Given the description of an element on the screen output the (x, y) to click on. 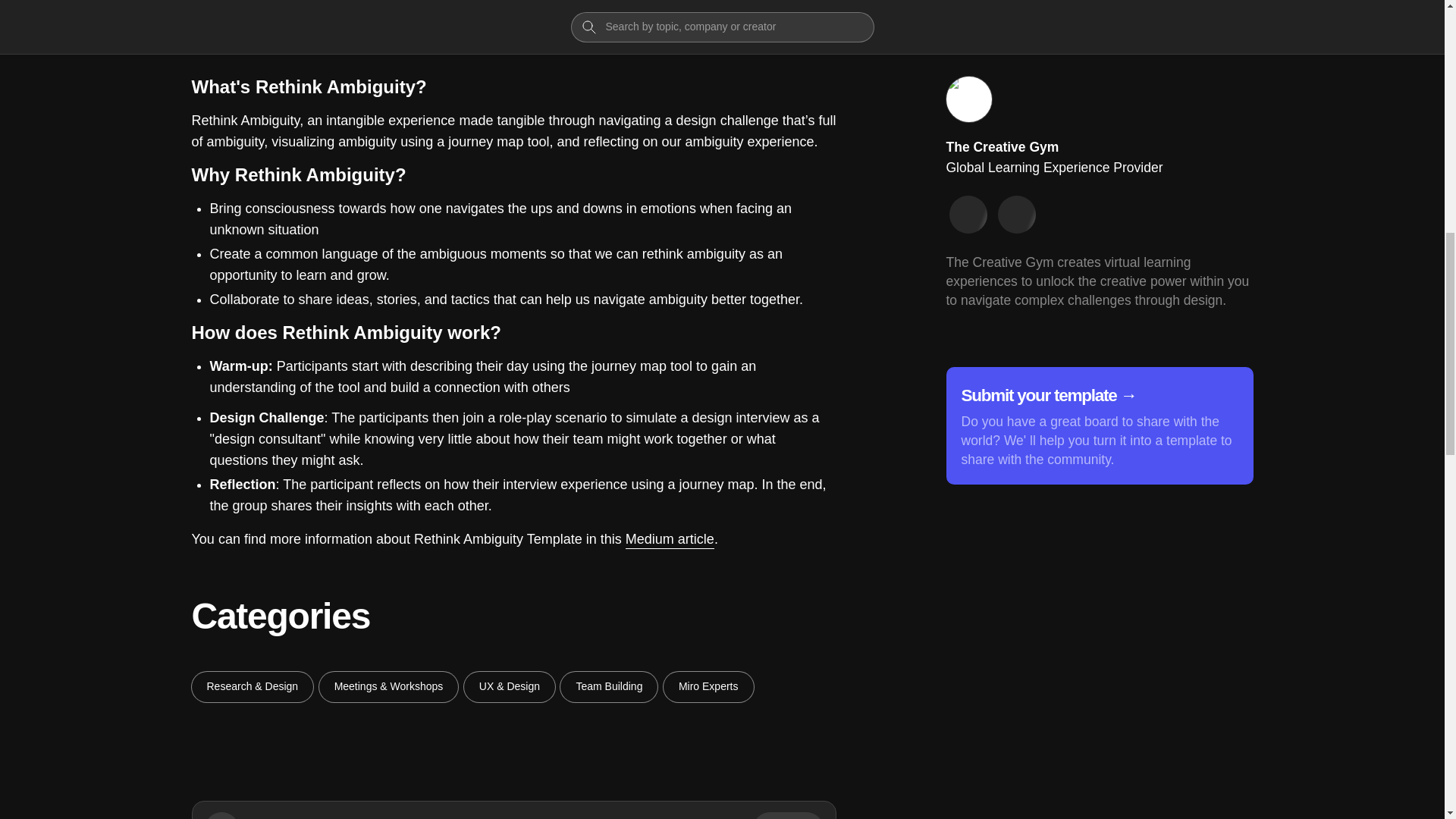
Miro Experts (708, 686)
The Creative Gym (1002, 146)
Report (1214, 26)
Medium article (670, 539)
Team Building (609, 686)
